Given the description of an element on the screen output the (x, y) to click on. 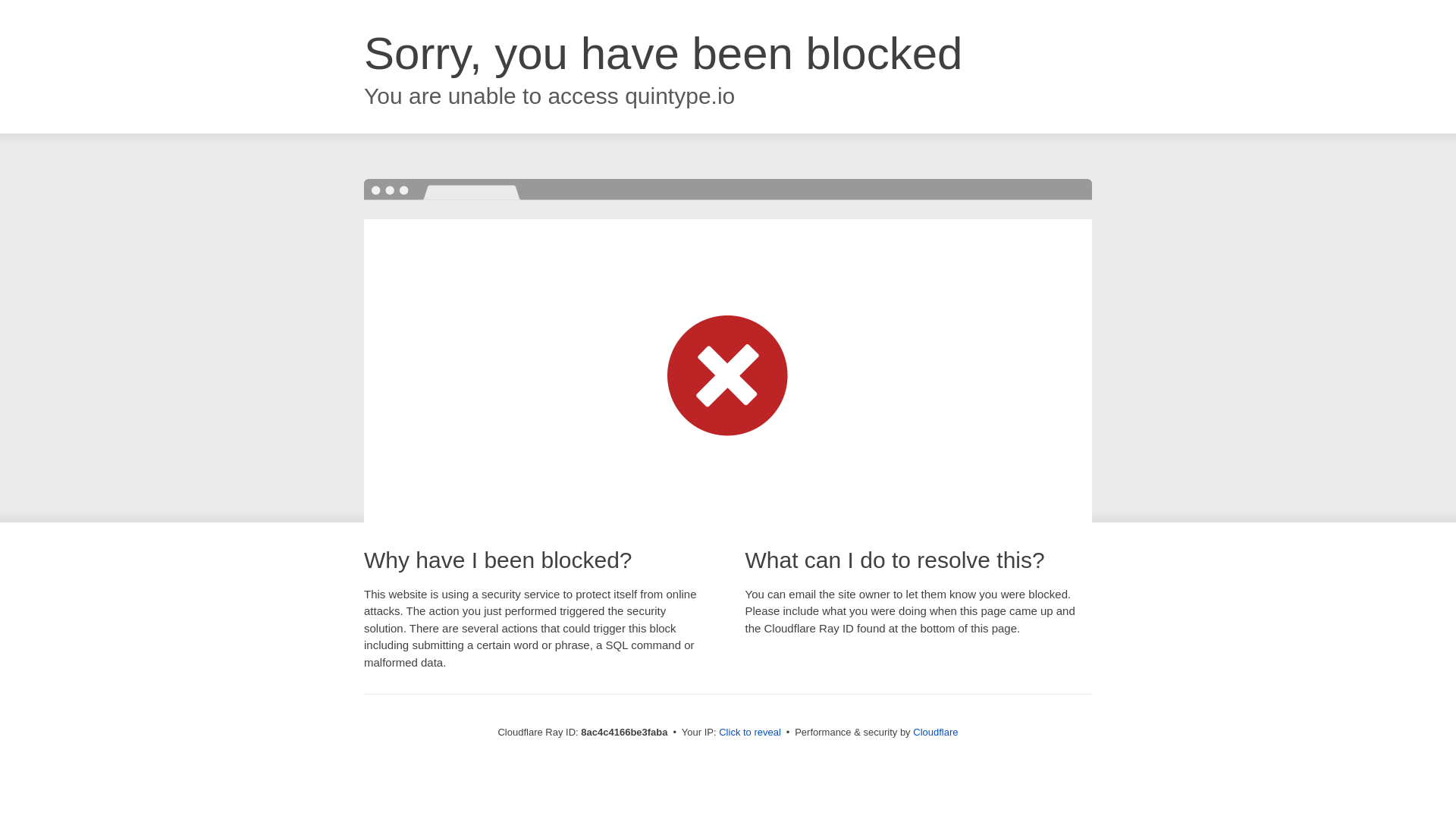
Cloudflare (935, 731)
Click to reveal (749, 732)
